Given the description of an element on the screen output the (x, y) to click on. 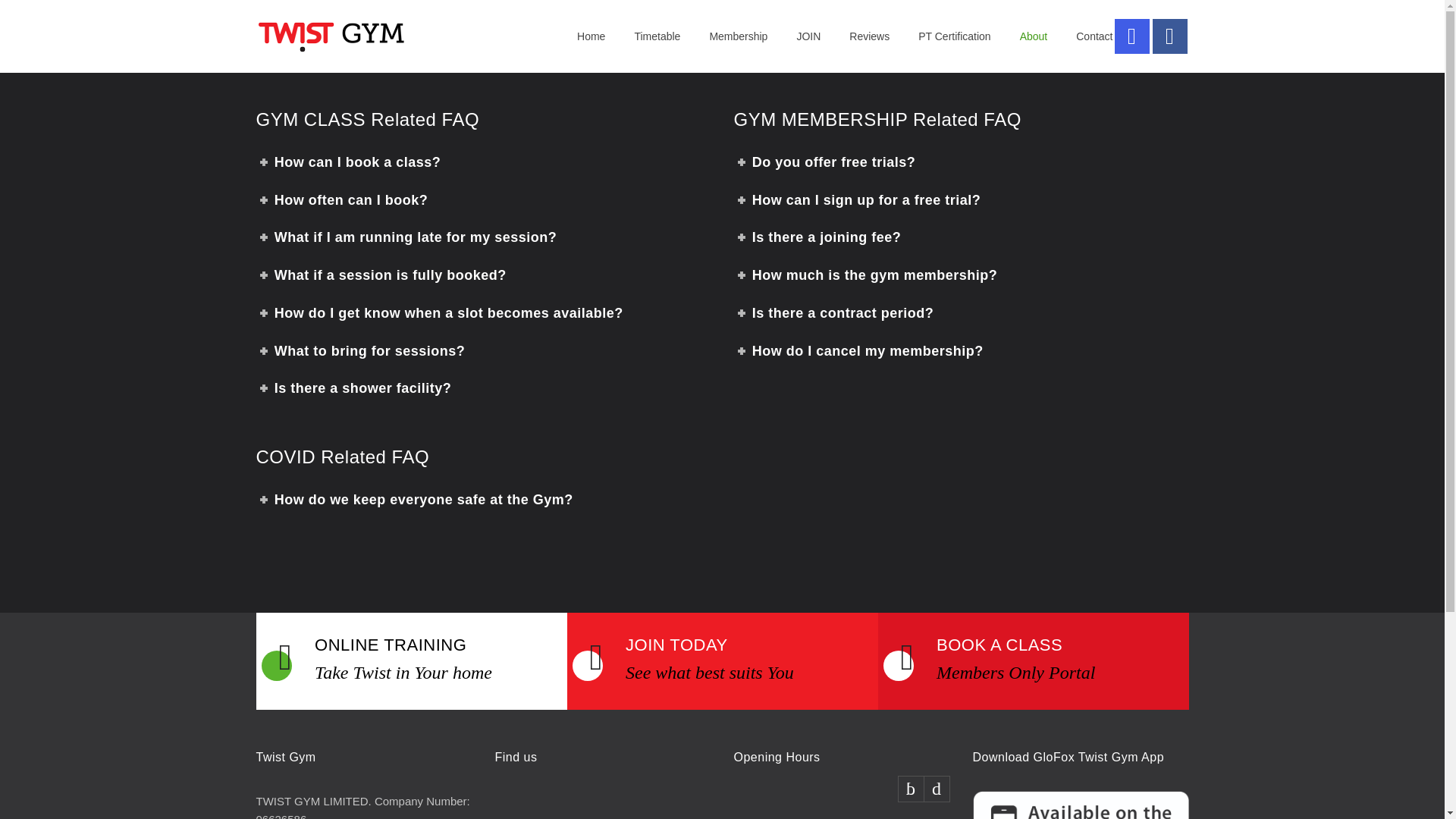
Timetable (642, 36)
PT Certification (939, 36)
About (1019, 36)
JOIN (794, 36)
Facebook (1170, 36)
JOIN TODAY (677, 644)
Reviews (855, 36)
TWIST Gym - Fitness Gym In Epsom (417, 36)
